Given the description of an element on the screen output the (x, y) to click on. 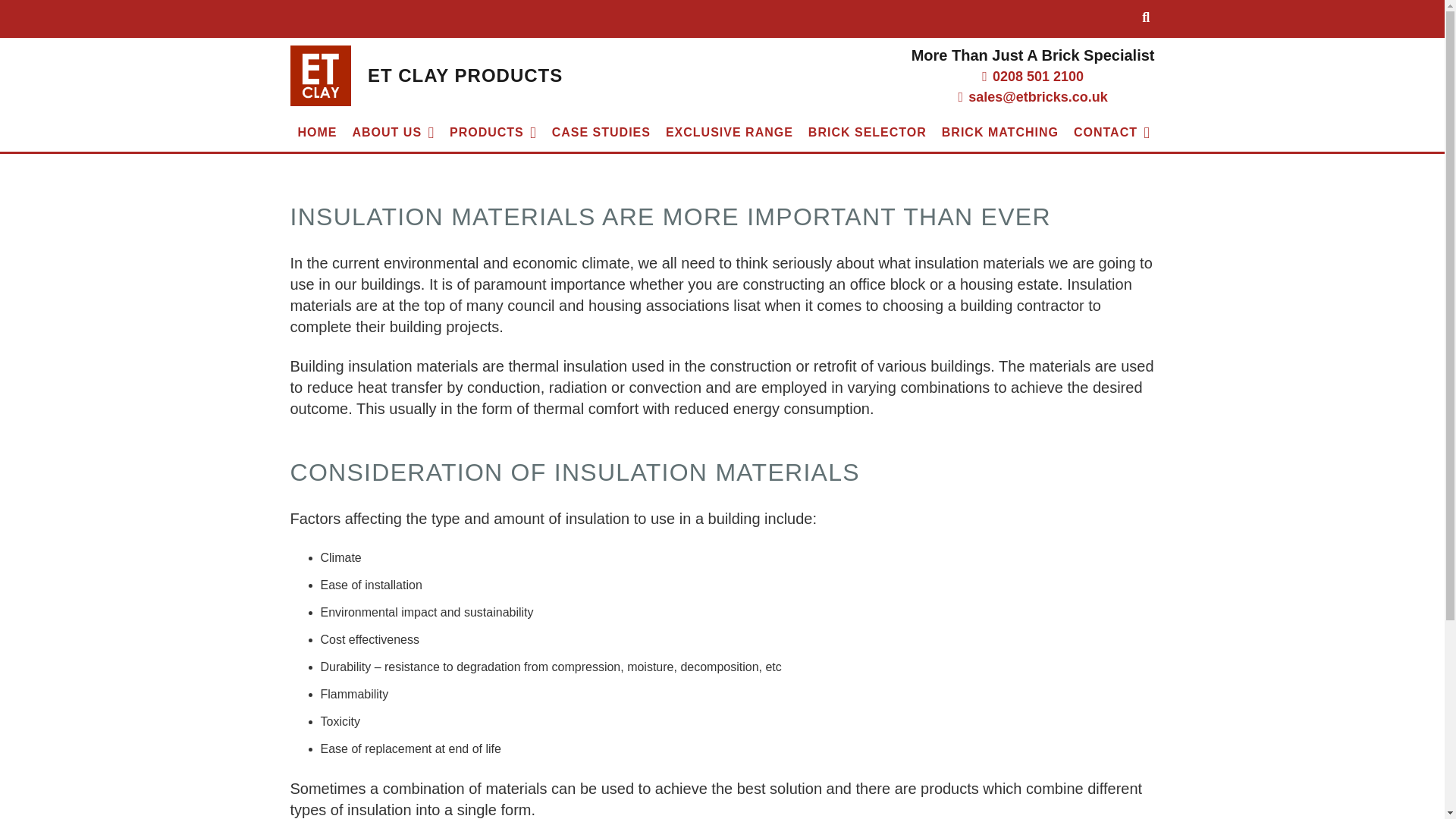
ET CLAY PRODUCTS (465, 75)
CASE STUDIES (601, 132)
ABOUT US (392, 132)
BRICK MATCHING (999, 132)
EXCLUSIVE RANGE (729, 132)
HOME (316, 132)
CONTACT (1111, 132)
BRICK SELECTOR (867, 132)
PRODUCTS (493, 132)
